Given the description of an element on the screen output the (x, y) to click on. 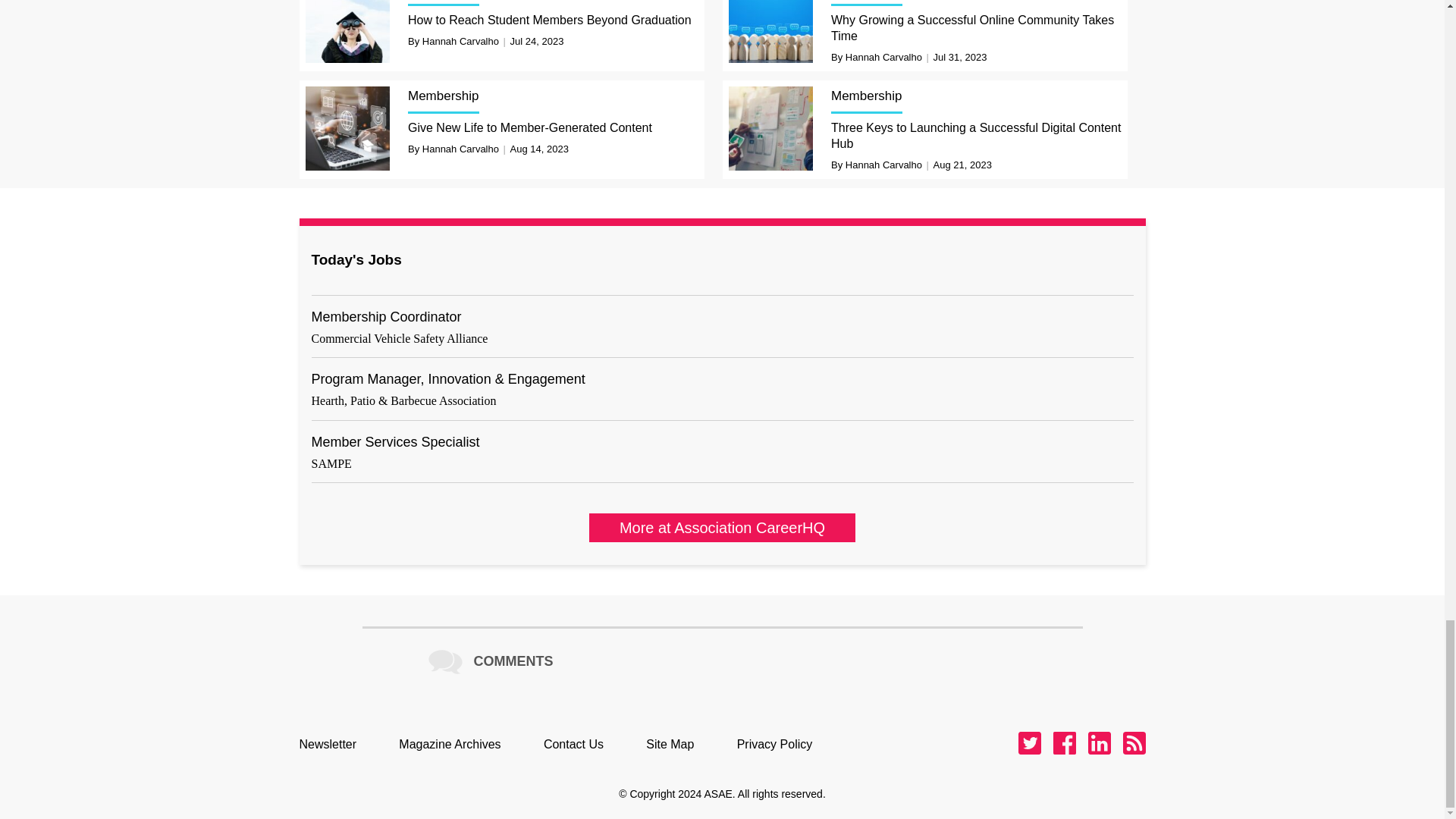
Visit us onFacebook (1063, 743)
Visit us onTwitter (1029, 743)
Rss Feel (1133, 743)
Visit us onLinkedIn (1098, 743)
